Given the description of an element on the screen output the (x, y) to click on. 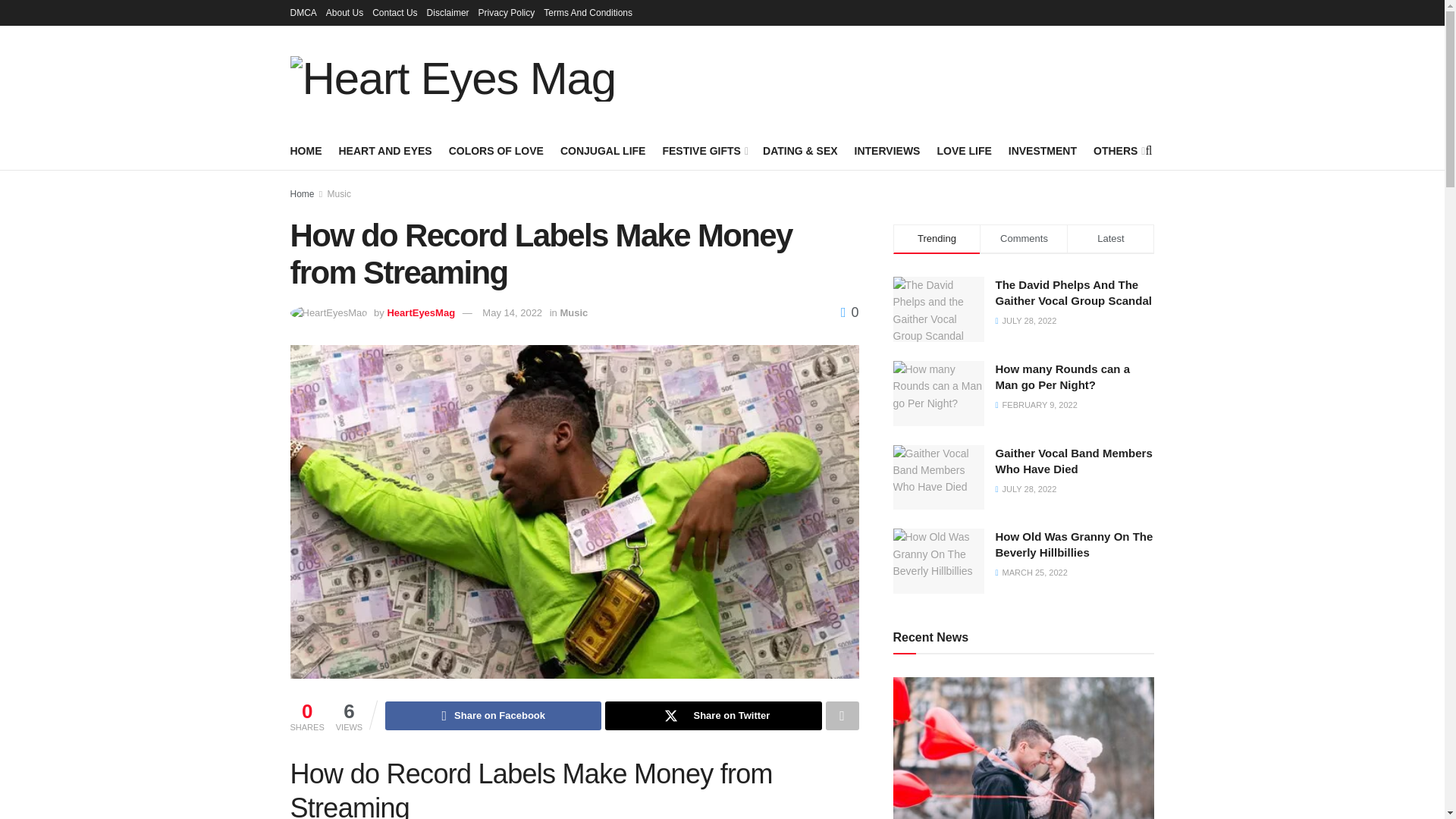
HOME (305, 150)
LOVE LIFE (963, 150)
INTERVIEWS (887, 150)
Terms And Conditions (587, 12)
COLORS OF LOVE (495, 150)
OTHERS (1117, 150)
CONJUGAL LIFE (603, 150)
Privacy Policy (507, 12)
Contact Us (394, 12)
HEART AND EYES (383, 150)
FESTIVE GIFTS (703, 150)
INVESTMENT (1043, 150)
Disclaimer (447, 12)
DMCA (302, 12)
About Us (344, 12)
